Given the description of an element on the screen output the (x, y) to click on. 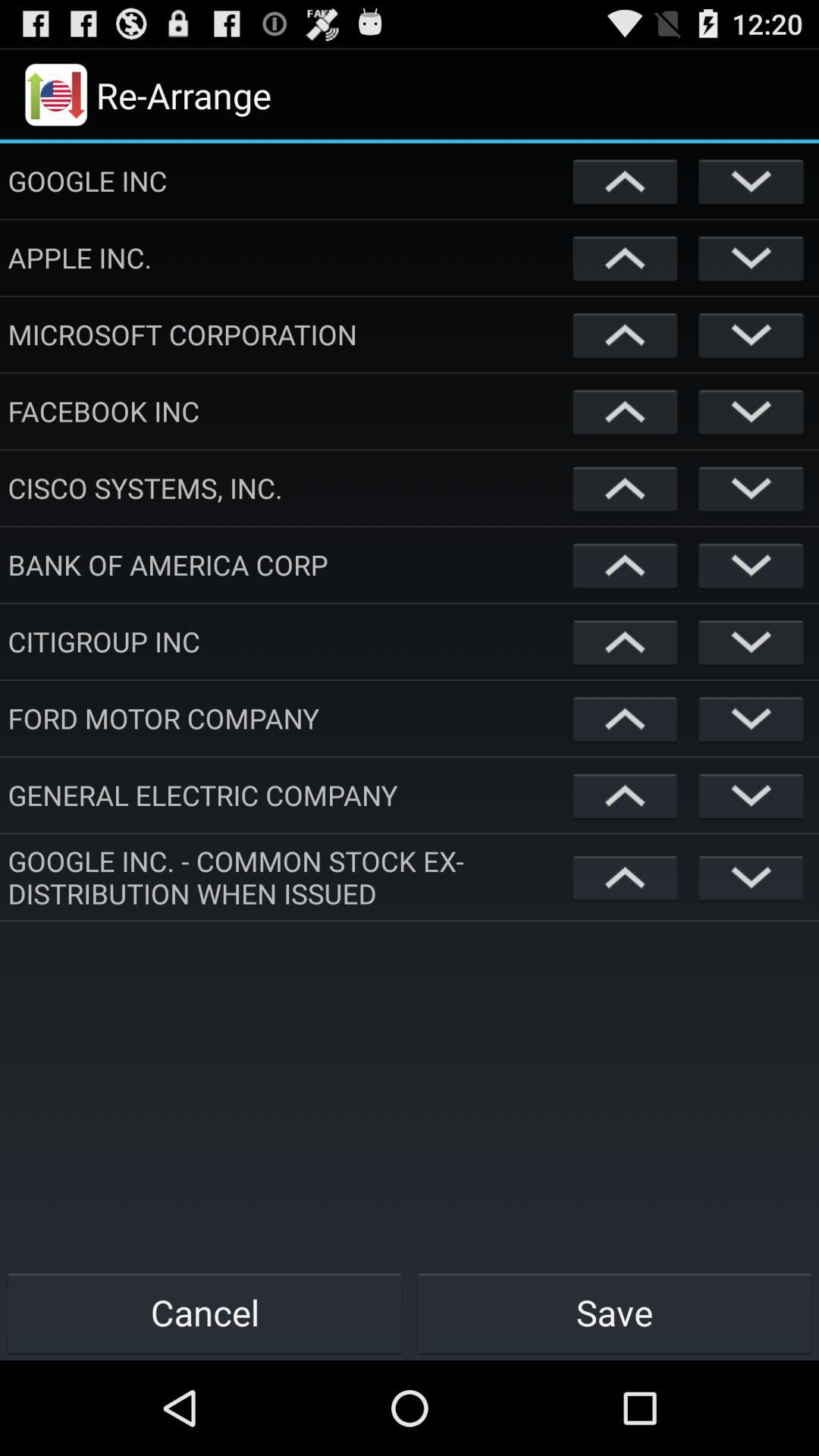
go to check option (751, 411)
